Given the description of an element on the screen output the (x, y) to click on. 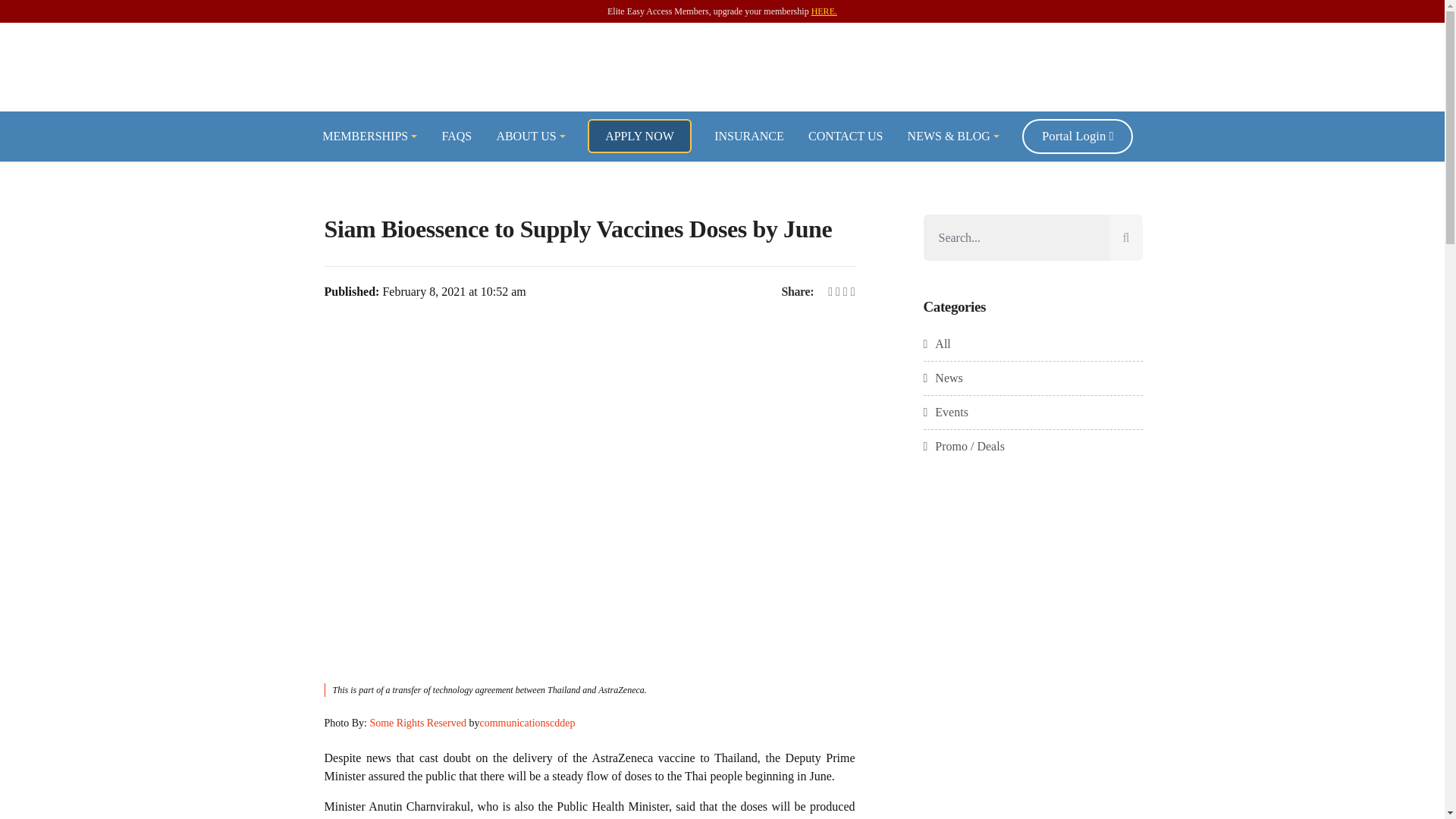
INSURANCE (749, 135)
FAQS (455, 135)
APPLY NOW (639, 135)
Portal Login (1078, 135)
Thailand Elite Visas (721, 67)
ABOUT US (531, 135)
communicationscddep (527, 722)
MEMBERSHIPS (370, 135)
Some Rights Reserved (417, 722)
